Given the description of an element on the screen output the (x, y) to click on. 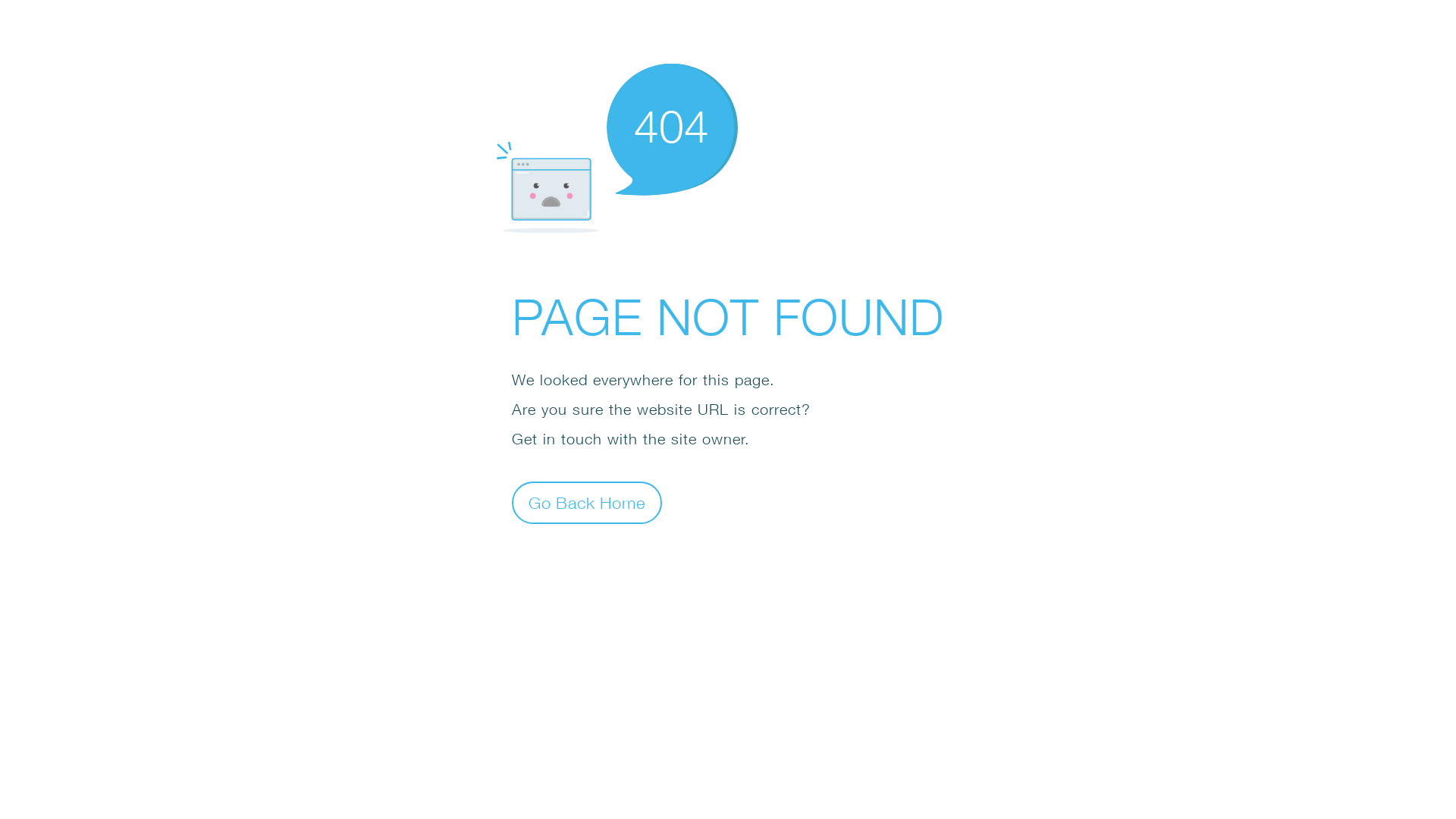
Go Back Home Element type: text (586, 502)
